Given the description of an element on the screen output the (x, y) to click on. 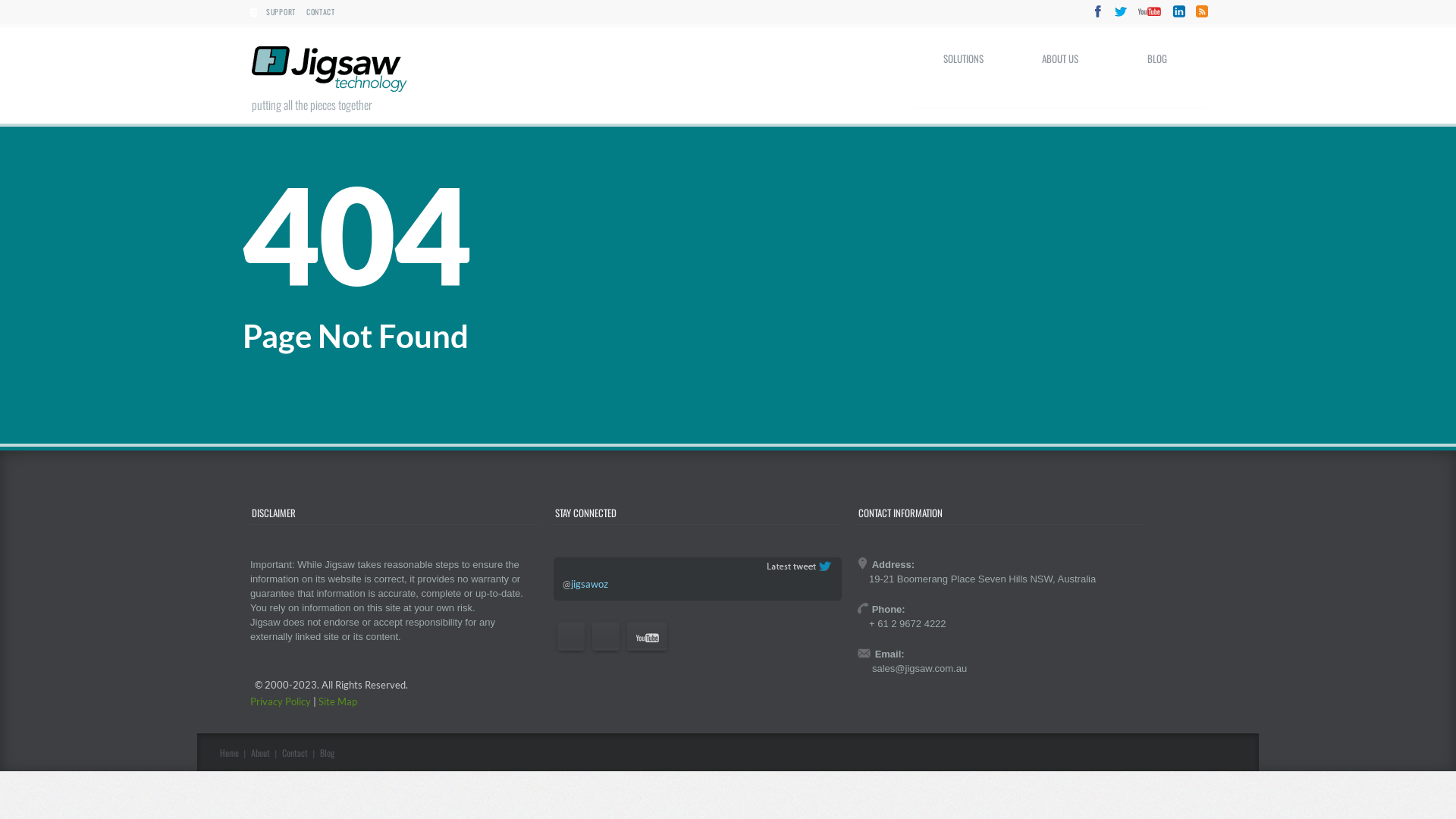
Site Map Element type: text (337, 701)
SUPPORT Element type: text (280, 11)
Privacy Policy Element type: text (280, 701)
About Element type: text (260, 752)
Contact Element type: text (294, 752)
ABOUT US Element type: text (1059, 71)
CONTACT Element type: text (320, 11)
BLOG Element type: text (1156, 71)
jigsawoz Element type: text (589, 584)
Blog Element type: text (327, 752)
Home Element type: text (228, 752)
SOLUTIONS Element type: text (962, 71)
